Given the description of an element on the screen output the (x, y) to click on. 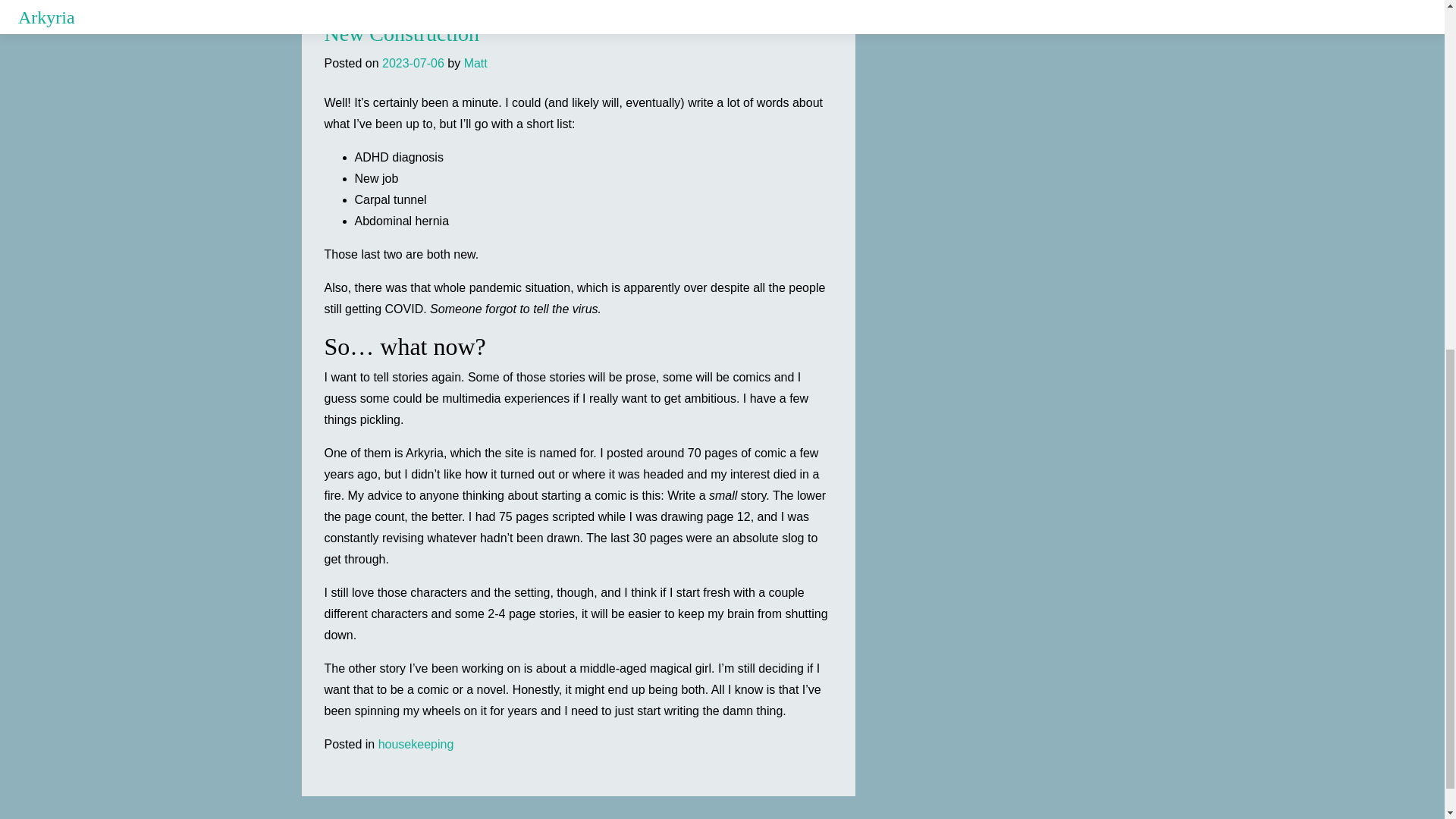
housekeeping (416, 744)
New Construction (402, 33)
Matt (475, 62)
2023-07-06 (412, 62)
